Given the description of an element on the screen output the (x, y) to click on. 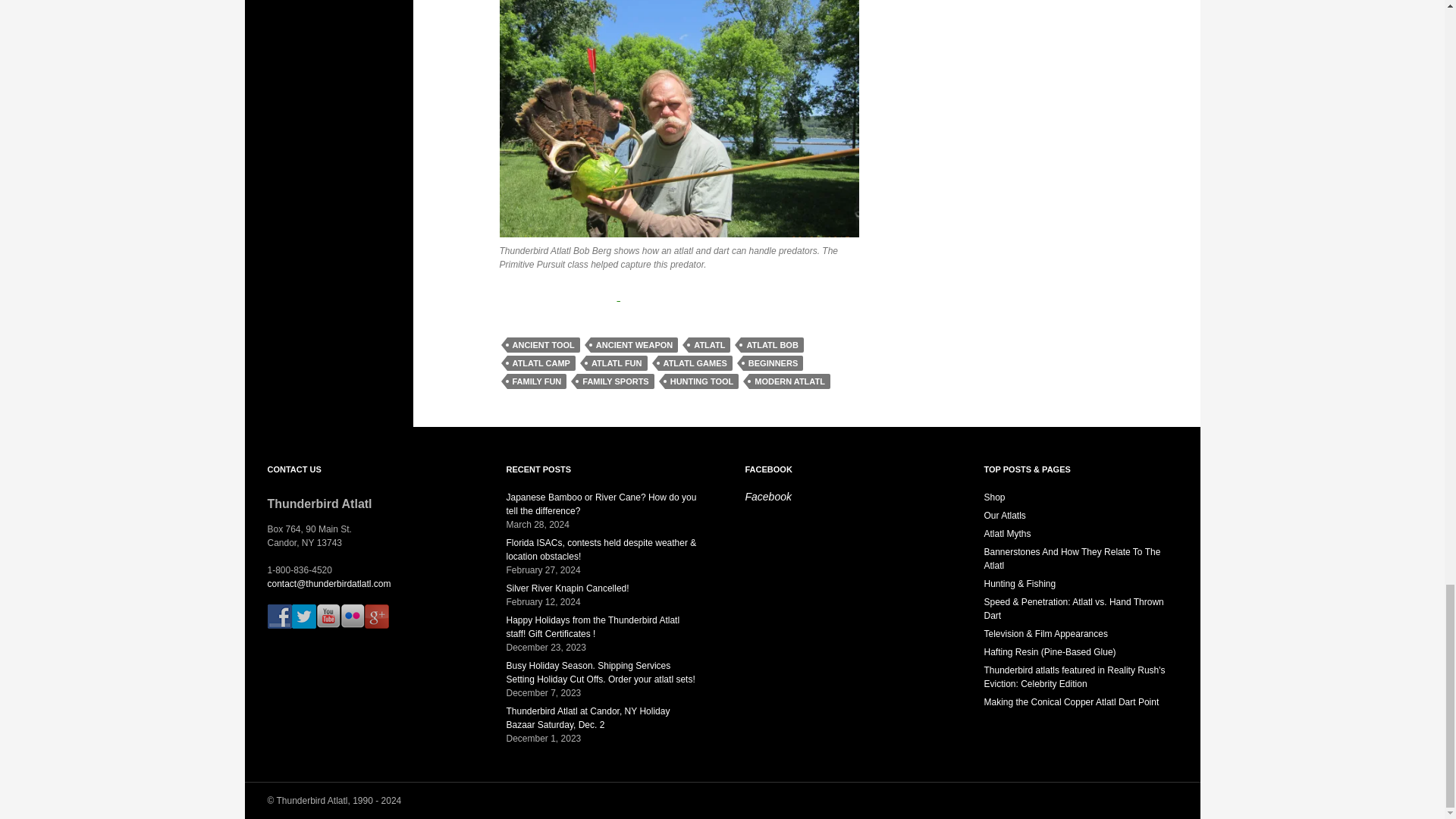
Follow Us on YouTube (327, 616)
ATLATL FUN (616, 363)
Follow Us on Facebook (278, 616)
Follow Us on Flickr (351, 616)
Follow Us on Twitter (303, 616)
ATLATL (709, 344)
ANCIENT TOOL (542, 344)
ATLATL CAMP (540, 363)
ANCIENT WEAPON (634, 344)
ATLATL BOB (772, 344)
